Given the description of an element on the screen output the (x, y) to click on. 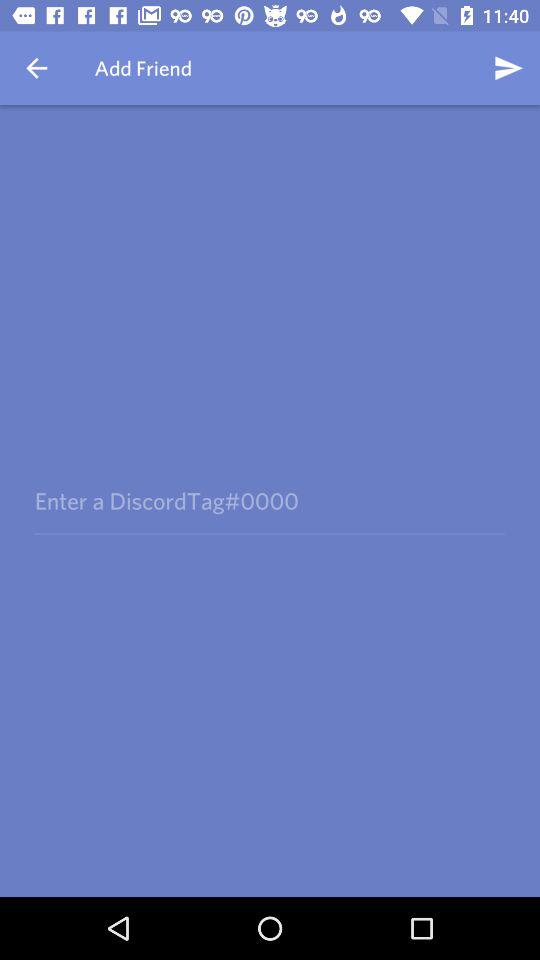
enter your discordtag (269, 500)
